Given the description of an element on the screen output the (x, y) to click on. 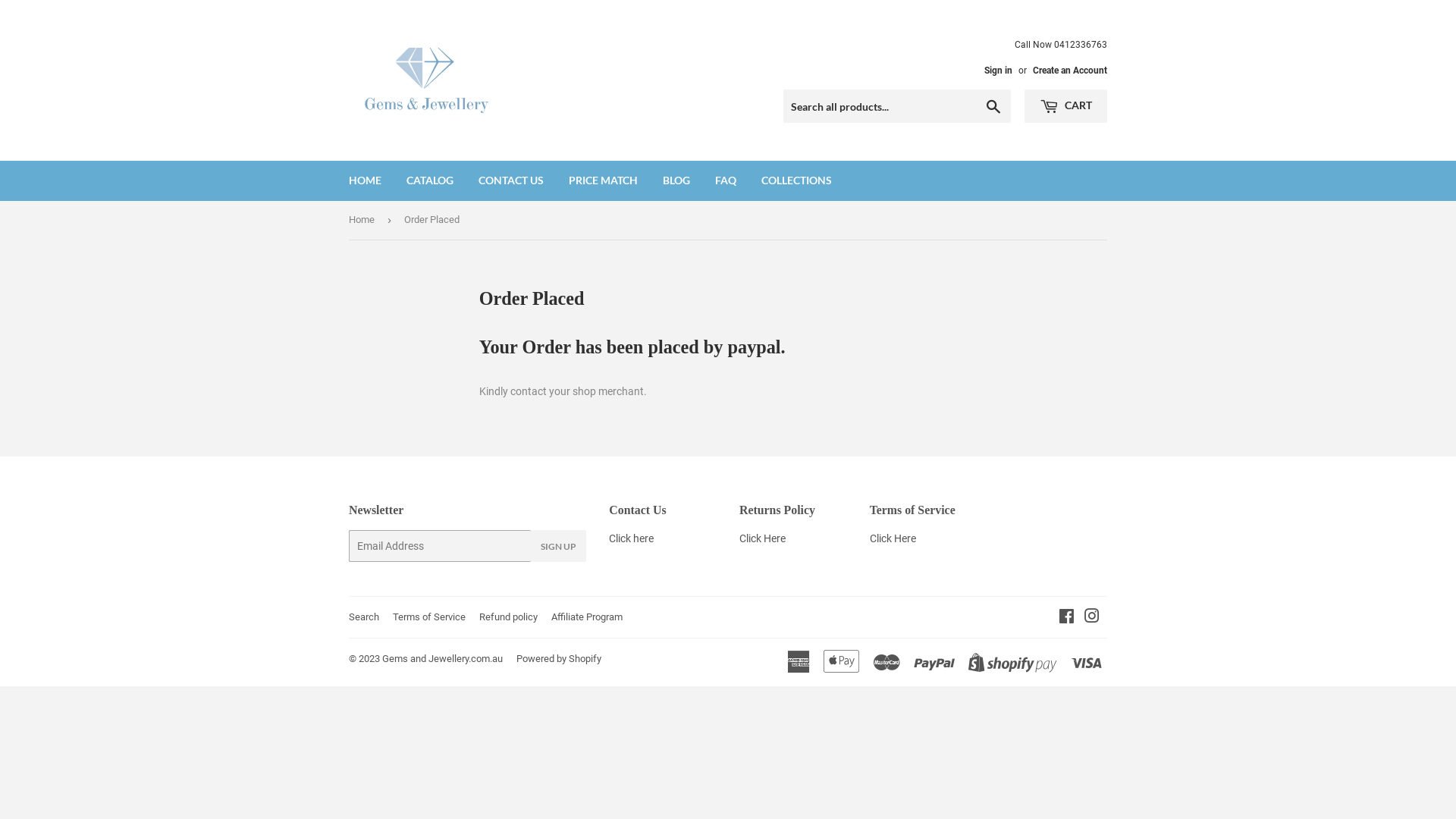
Click here Element type: text (630, 538)
Affiliate Program Element type: text (586, 616)
CART Element type: text (1065, 105)
FAQ Element type: text (725, 180)
Powered by Shopify Element type: text (558, 658)
CATALOG Element type: text (429, 180)
BLOG Element type: text (676, 180)
Click Here Element type: text (892, 538)
Click Here Element type: text (762, 538)
Create an Account Element type: text (1069, 70)
CONTACT US Element type: text (511, 180)
Gems and Jewellery.com.au Element type: text (442, 658)
Sign in Element type: text (998, 70)
Instagram Element type: text (1091, 617)
PRICE MATCH Element type: text (603, 180)
Terms of Service Element type: text (428, 616)
HOME Element type: text (364, 180)
Refund policy Element type: text (508, 616)
Facebook Element type: text (1066, 617)
Search Element type: text (993, 106)
Search Element type: text (363, 616)
SIGN UP Element type: text (558, 545)
Home Element type: text (363, 219)
COLLECTIONS Element type: text (796, 180)
